Given the description of an element on the screen output the (x, y) to click on. 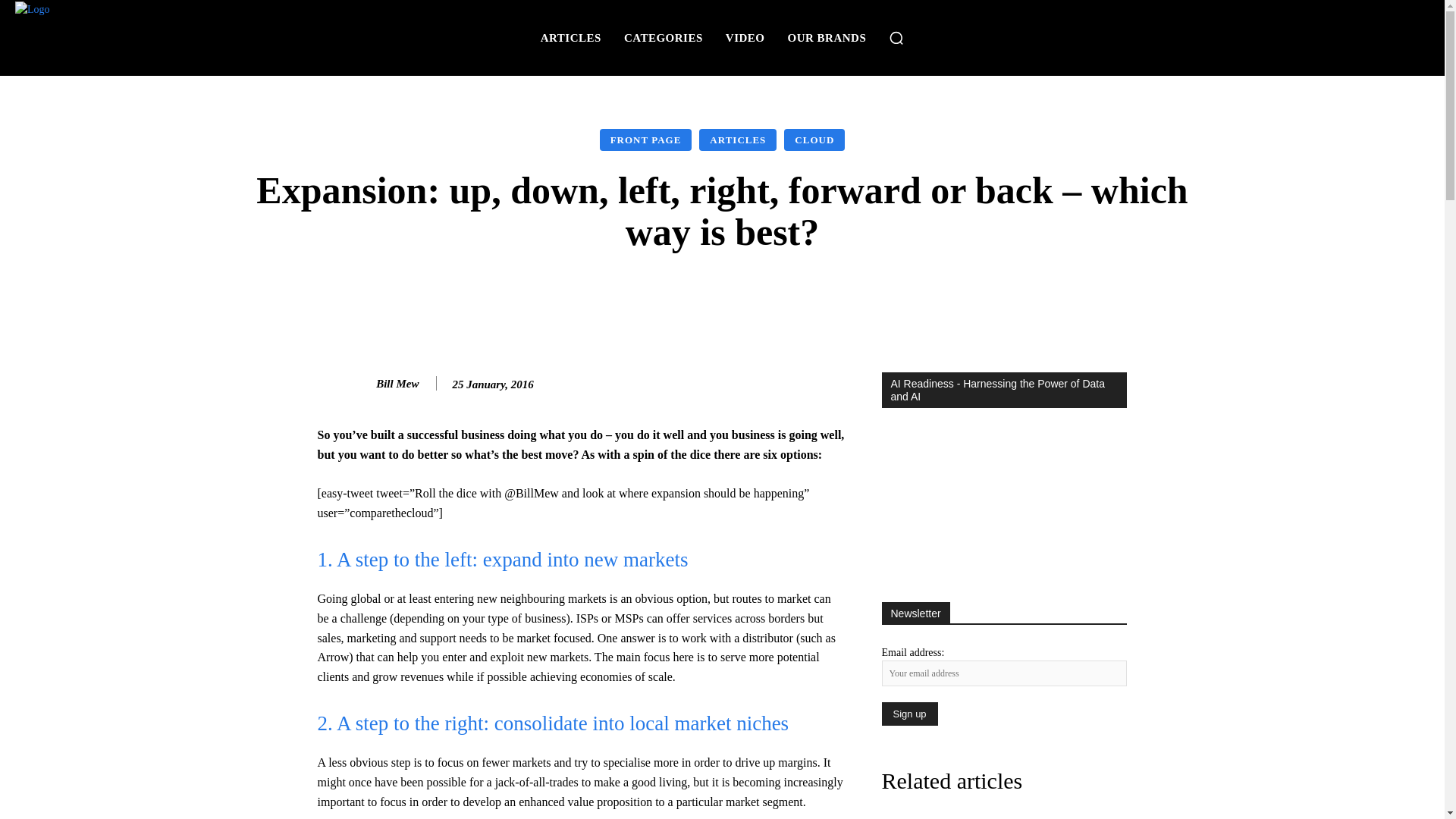
Sign up (908, 713)
